Given the description of an element on the screen output the (x, y) to click on. 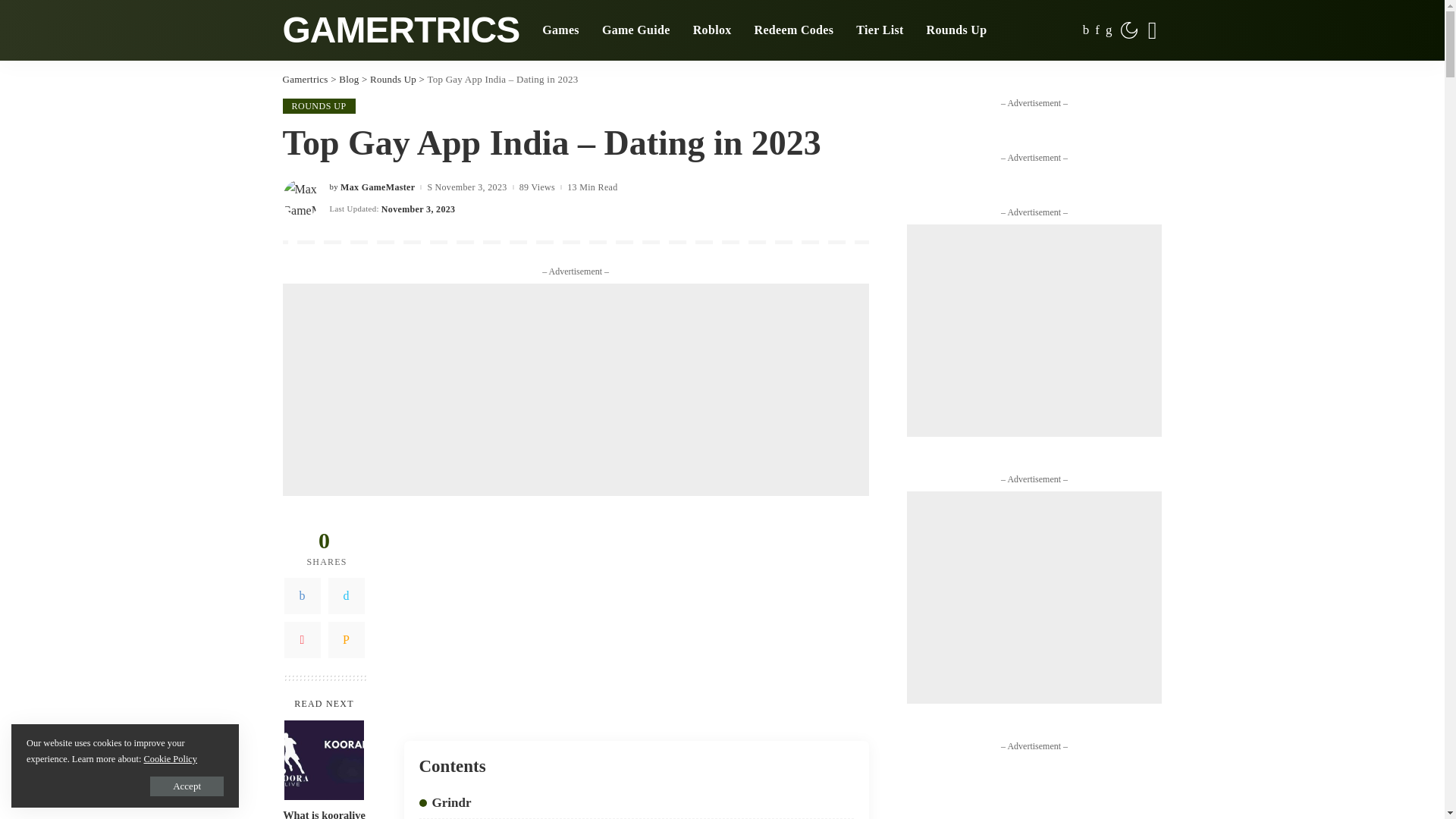
Game Guide (636, 30)
Games (561, 30)
Go to Blog. (348, 79)
Go to Gamertrics. (304, 79)
Search (1151, 30)
Redeem Codes (793, 30)
Rounds Up (956, 30)
GAMERTRICS (400, 29)
Roblox (711, 30)
Search (1140, 91)
Tier List (879, 30)
Gamertrics (400, 29)
Advertisement (575, 389)
Facebook (301, 596)
